Given the description of an element on the screen output the (x, y) to click on. 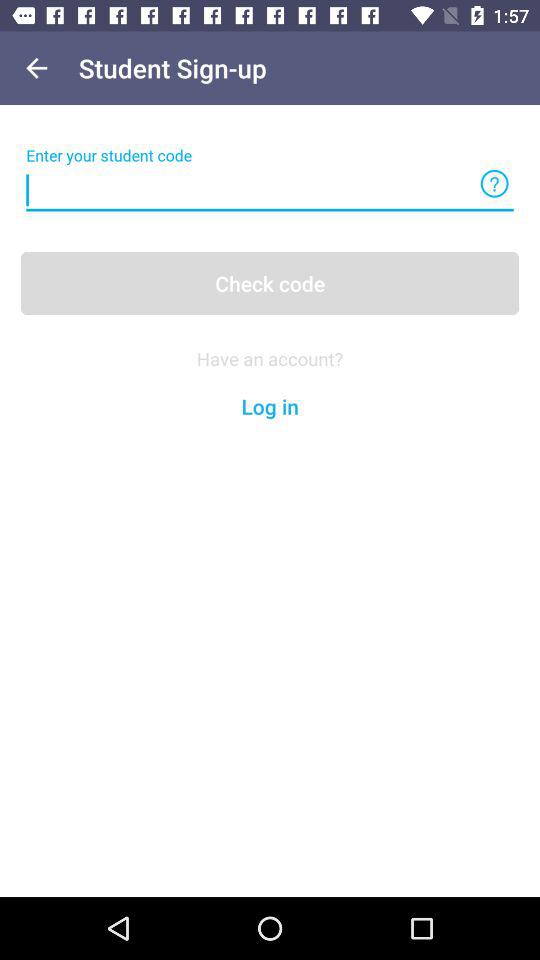
text box (270, 190)
